Given the description of an element on the screen output the (x, y) to click on. 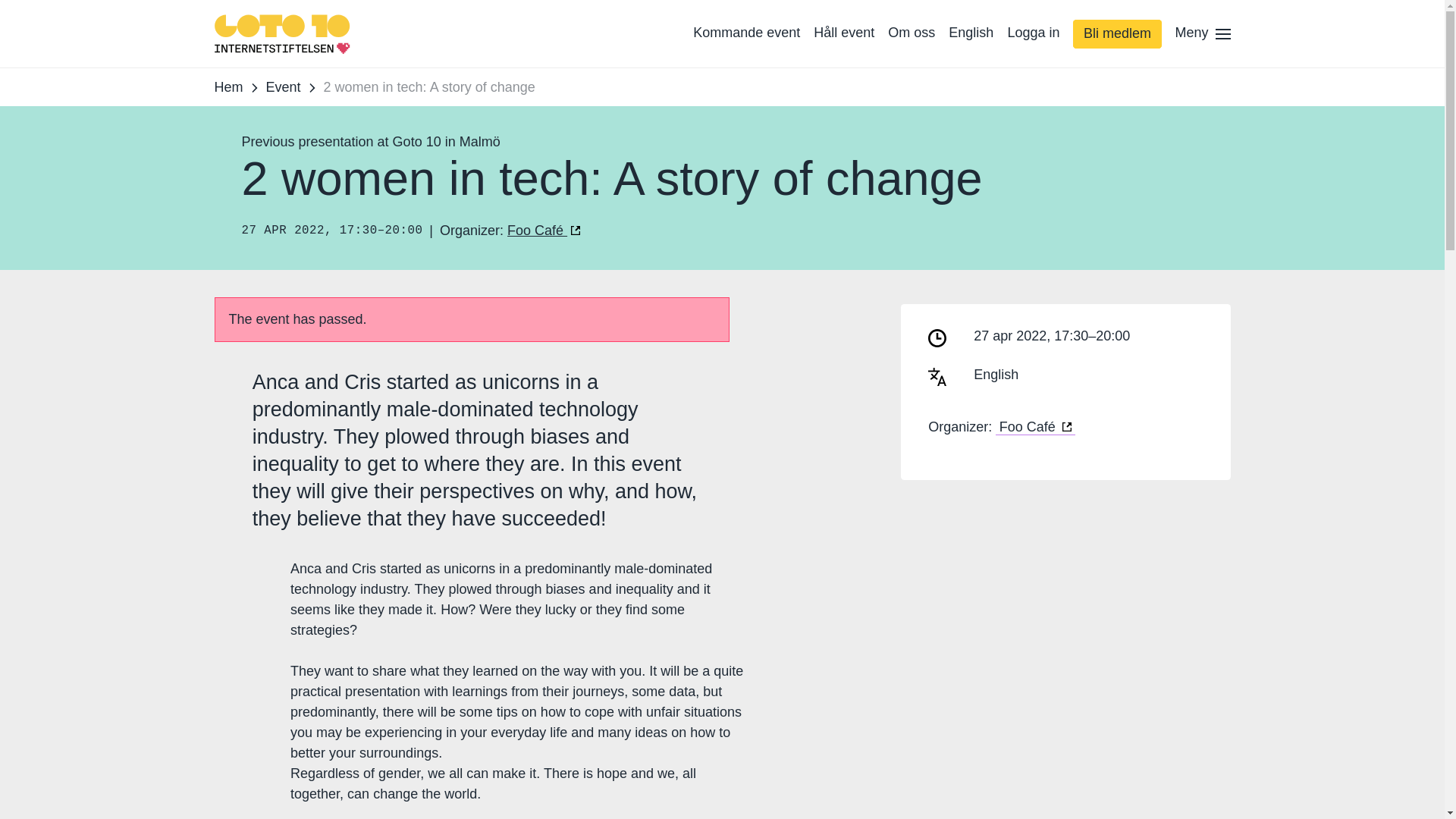
Bli medlem (1116, 33)
Logga in (1032, 33)
English (971, 33)
Meny (1198, 33)
Kommande event (745, 33)
Om oss (911, 33)
Till startsidan (282, 33)
